Given the description of an element on the screen output the (x, y) to click on. 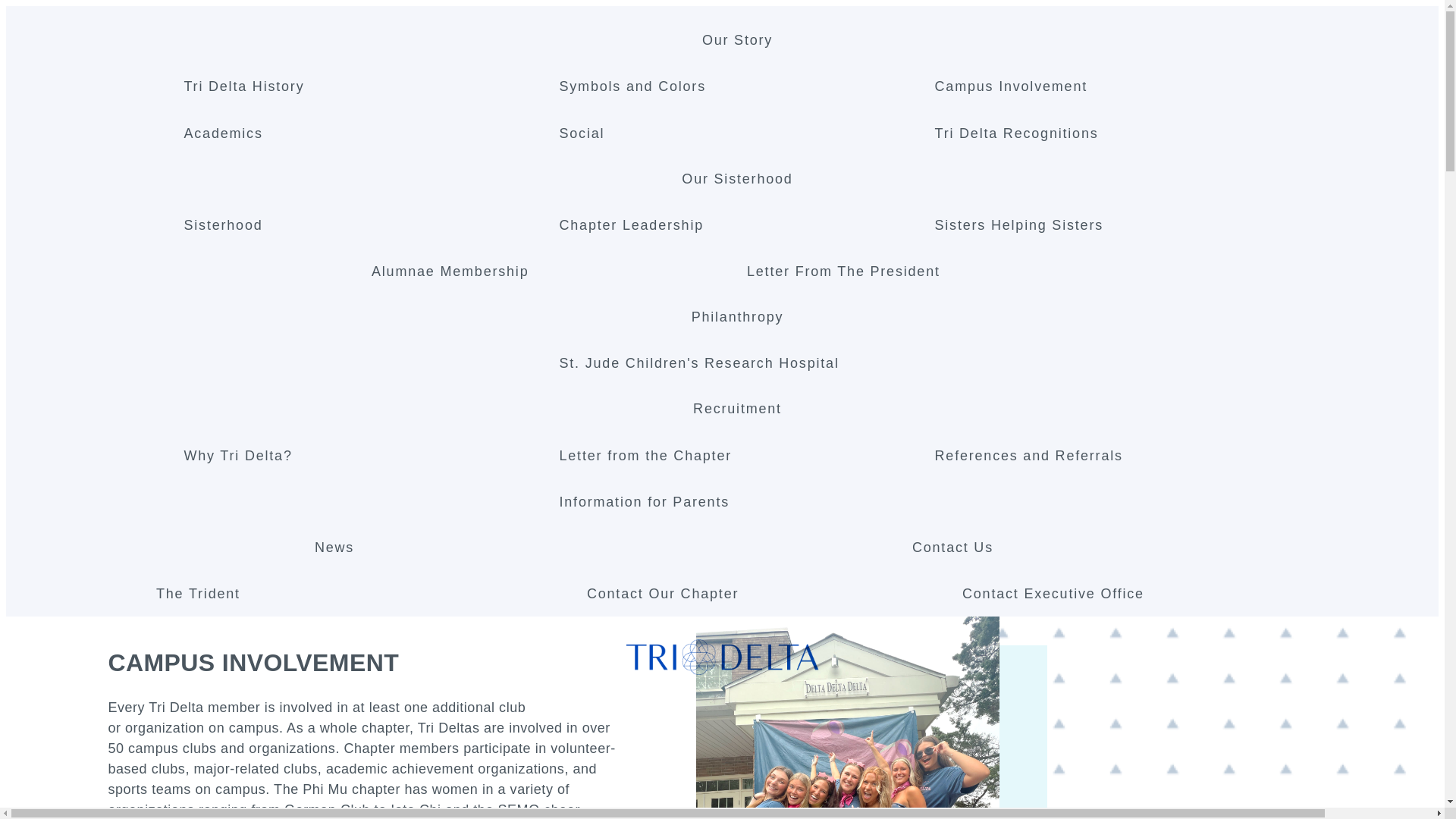
Campus Involvement (1112, 85)
Social (737, 131)
Contact Our Chapter (764, 592)
Our Story (737, 39)
Sisters Helping Sisters (1112, 224)
Information for Parents (737, 500)
Contact Us (952, 547)
Letter from the Chapter (737, 453)
Our Sisterhood (736, 178)
News (333, 547)
Tri Delta Recognitions (1112, 131)
St. Jude Children's Research Hospital (737, 362)
Sisterhood (361, 224)
Symbols and Colors (737, 85)
Why Tri Delta? (361, 453)
